Given the description of an element on the screen output the (x, y) to click on. 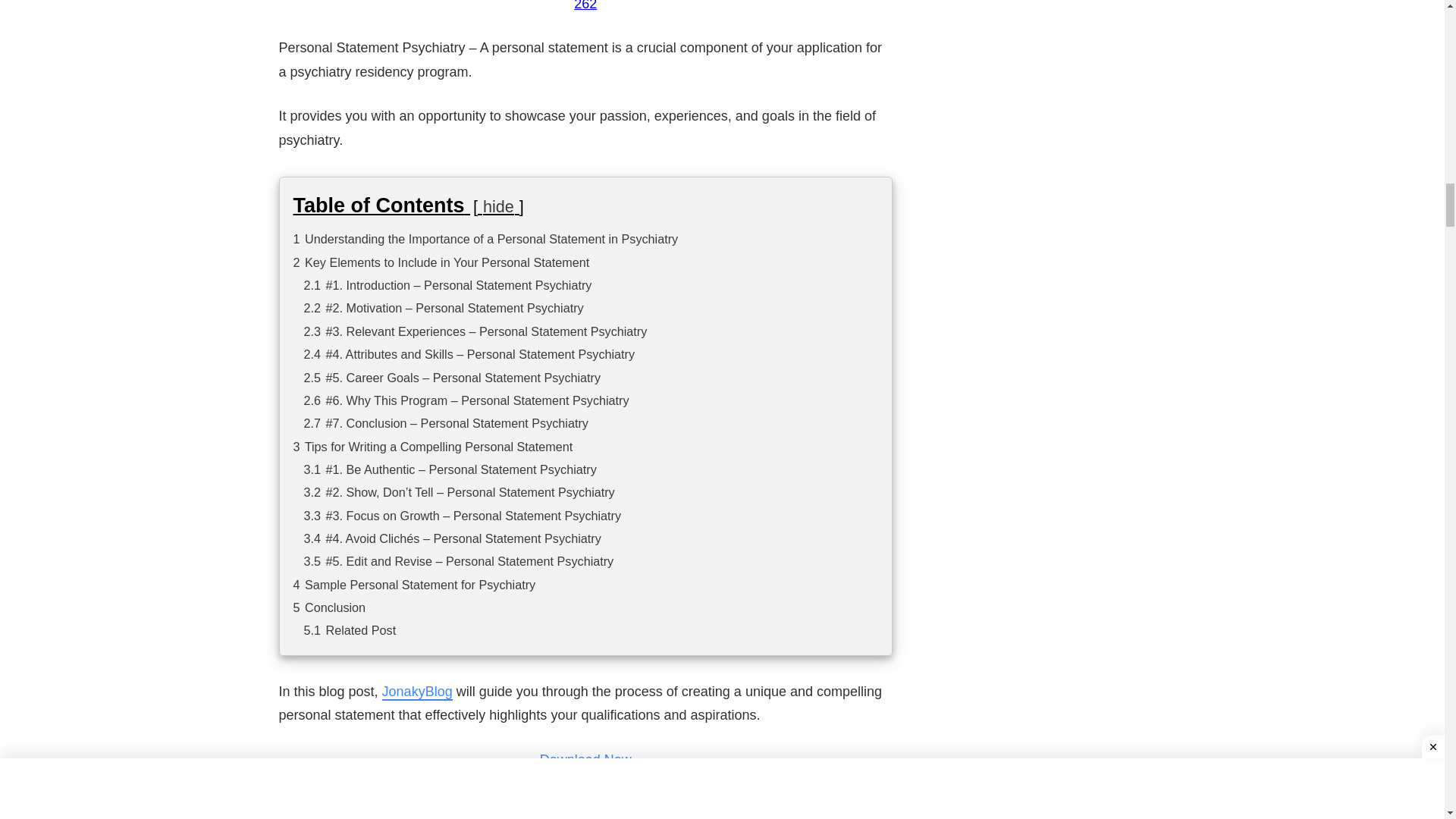
hide (498, 206)
